Given the description of an element on the screen output the (x, y) to click on. 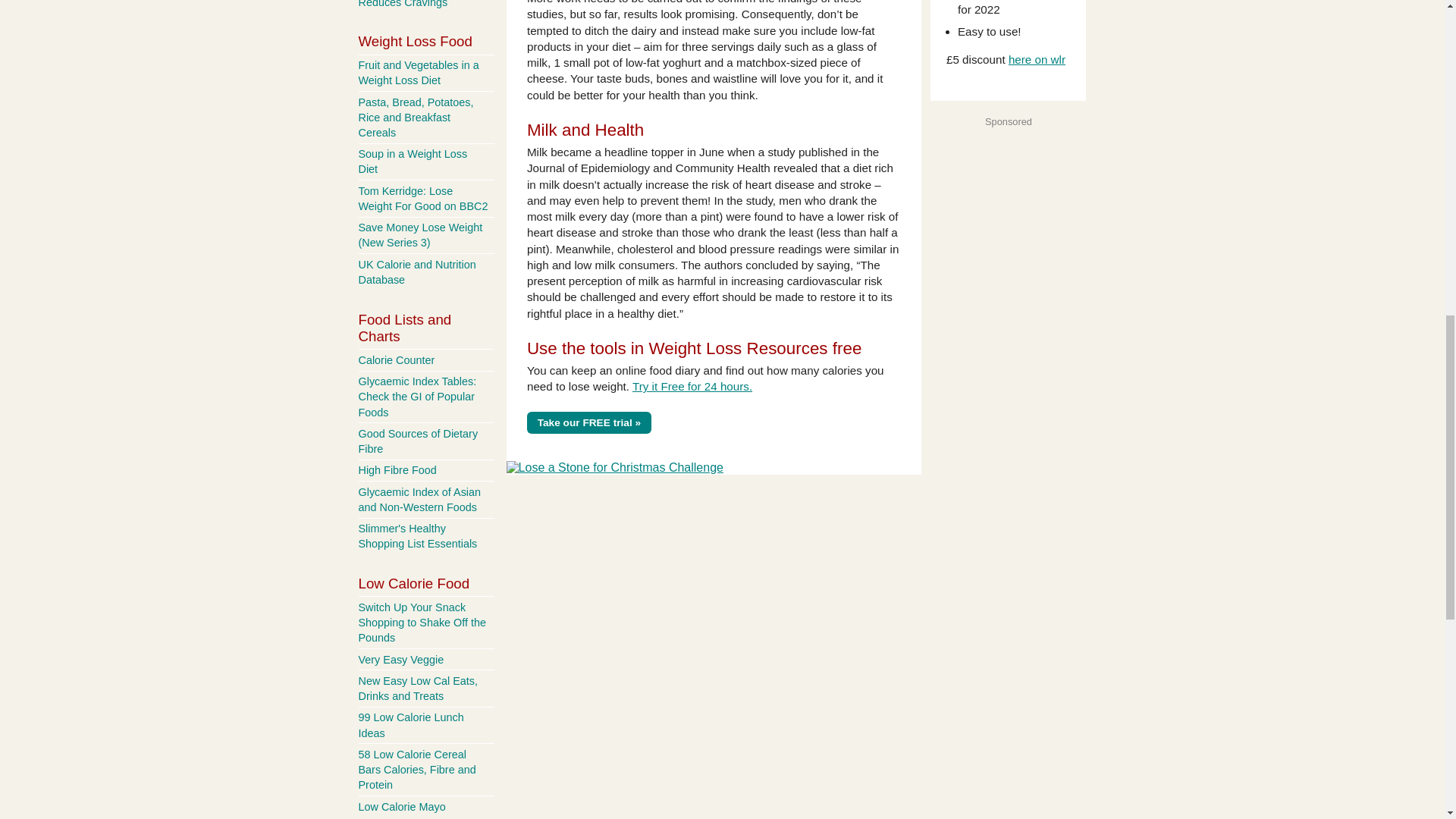
here on wlr (1037, 59)
Try it Free for 24 hours. (691, 386)
Use the tools in Weight Loss Resources free (694, 348)
